Given the description of an element on the screen output the (x, y) to click on. 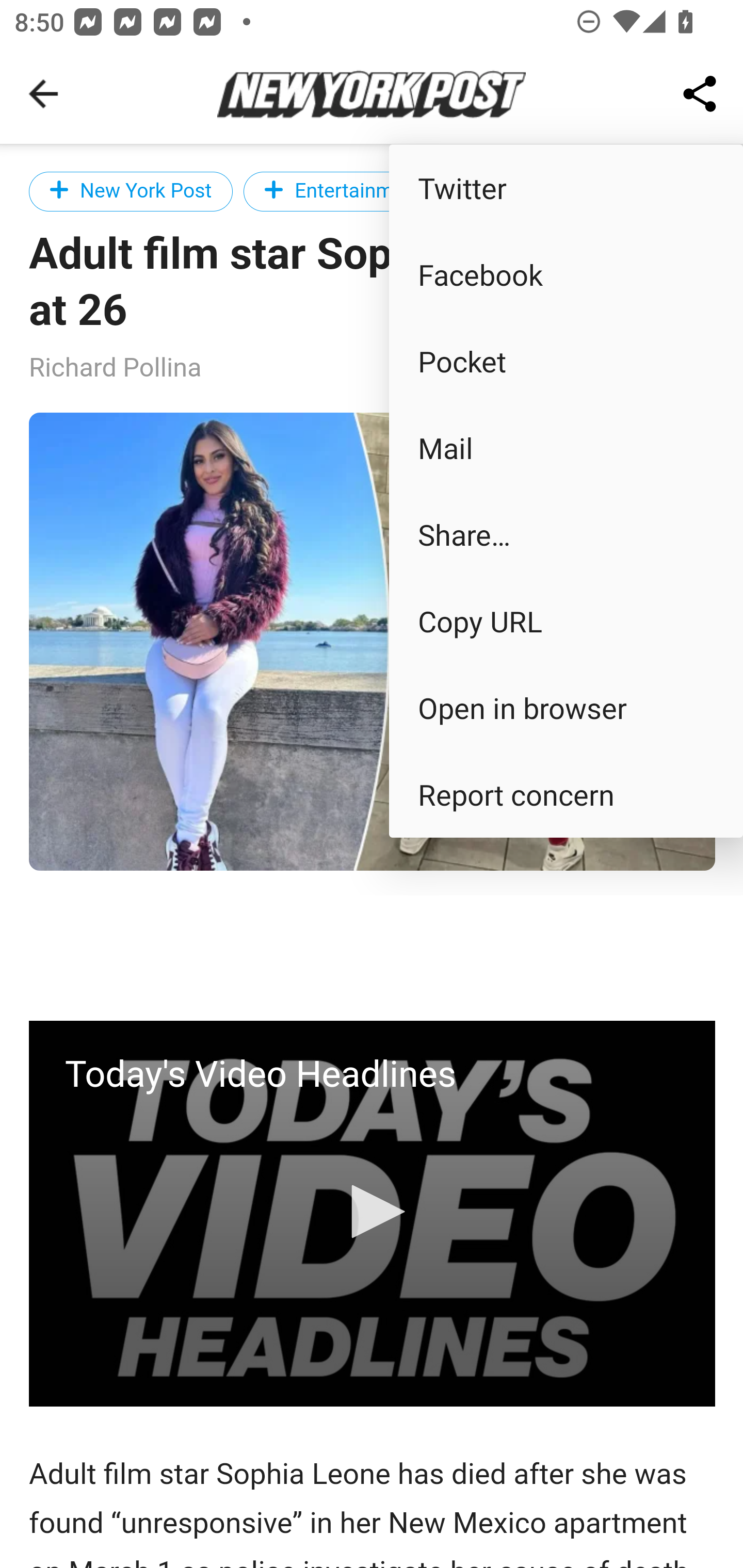
Twitter (566, 187)
Facebook (566, 274)
Pocket (566, 361)
Mail (566, 447)
Share… (566, 533)
Copy URL (566, 620)
Open in browser (566, 707)
Report concern (566, 794)
